Given the description of an element on the screen output the (x, y) to click on. 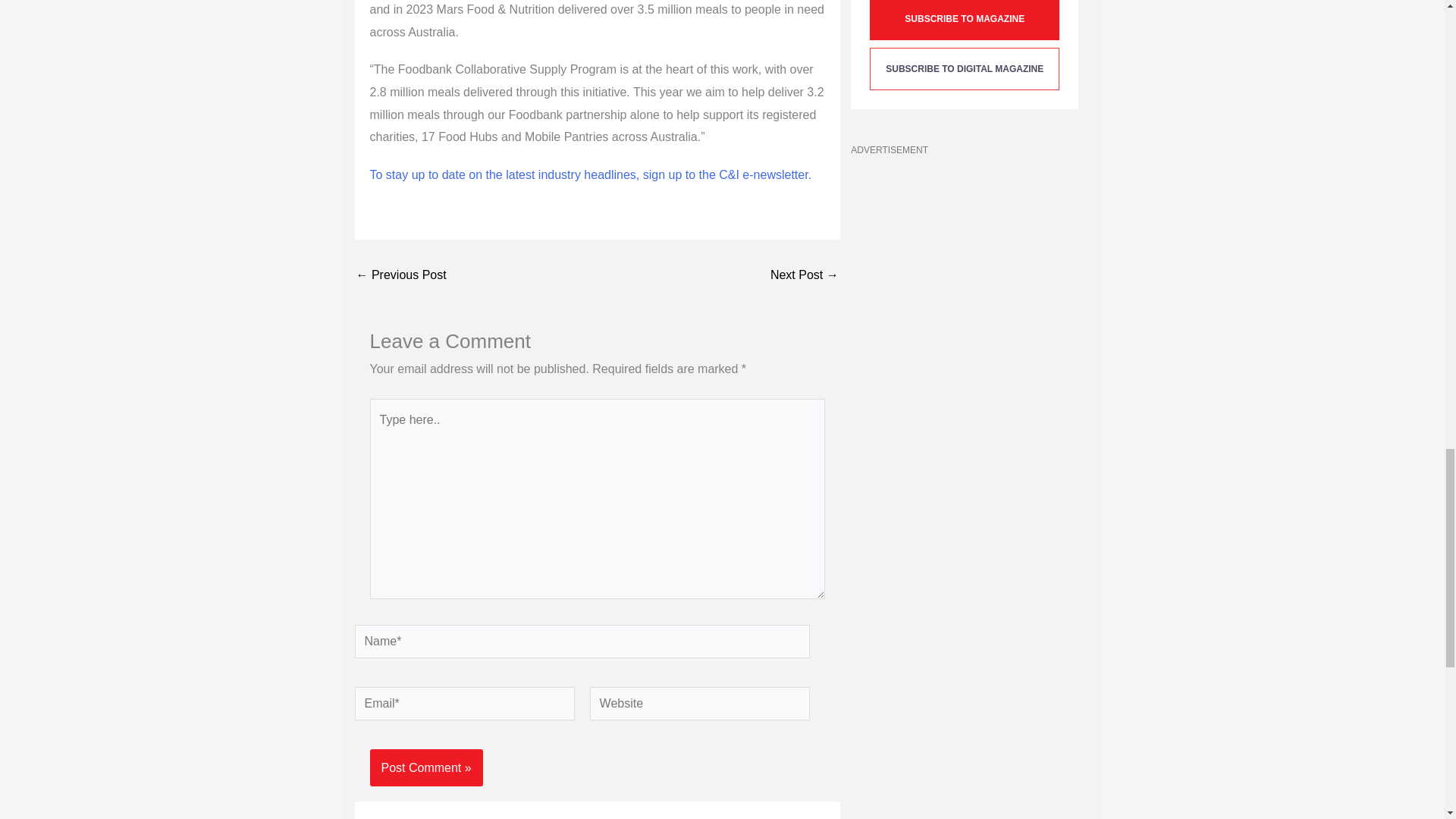
3rd party ad content (964, 258)
Face Time with Tim Rankin from Chevron (410, 275)
